Given the description of an element on the screen output the (x, y) to click on. 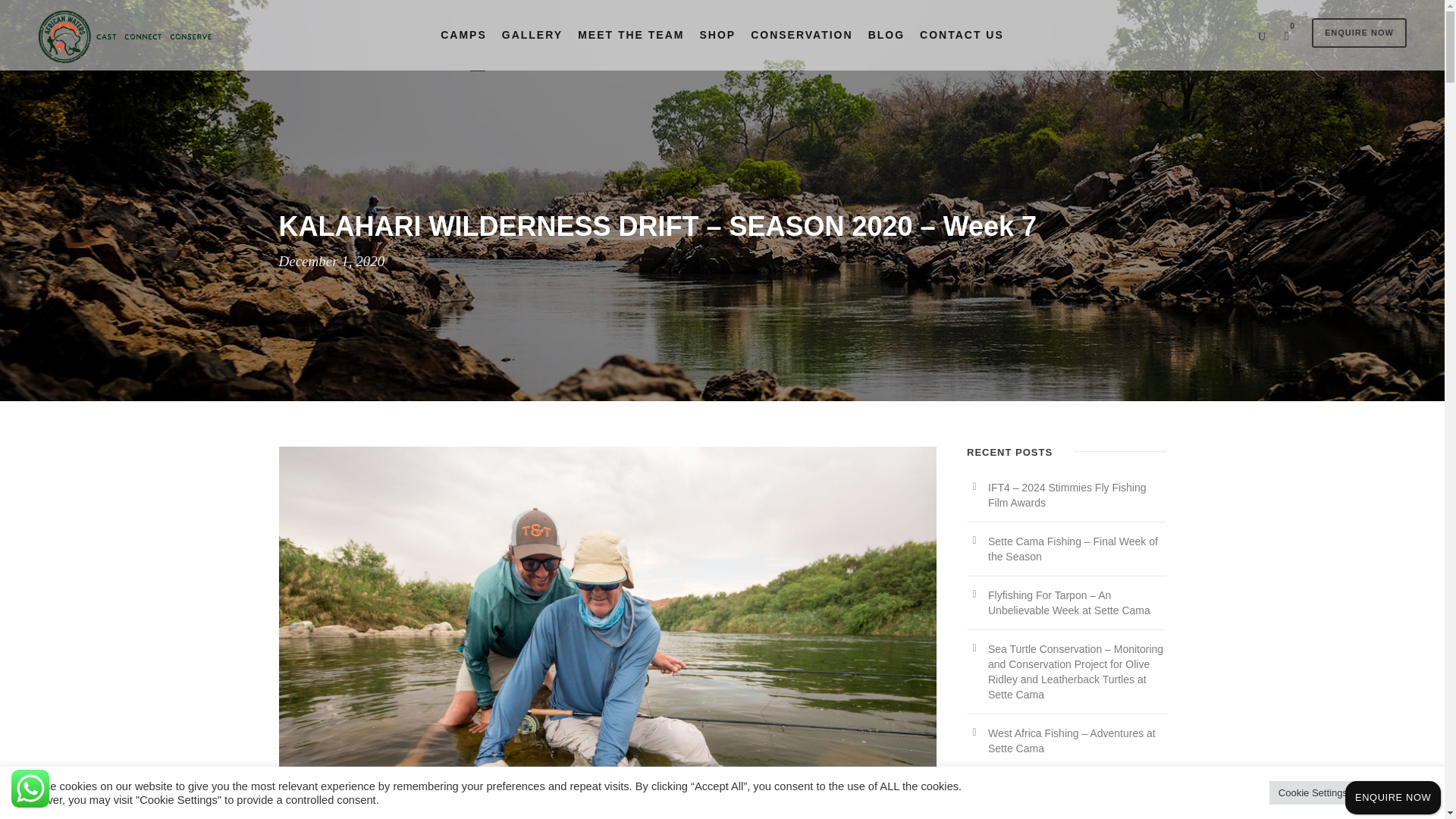
MEET THE TEAM (631, 48)
GALLERY (532, 48)
CONTACT US (962, 48)
December 1, 2020 (332, 261)
CAMPS (463, 48)
African Waters Logo 2019 b (128, 36)
ENQUIRE NOW (1358, 32)
CONSERVATION (801, 48)
